Given the description of an element on the screen output the (x, y) to click on. 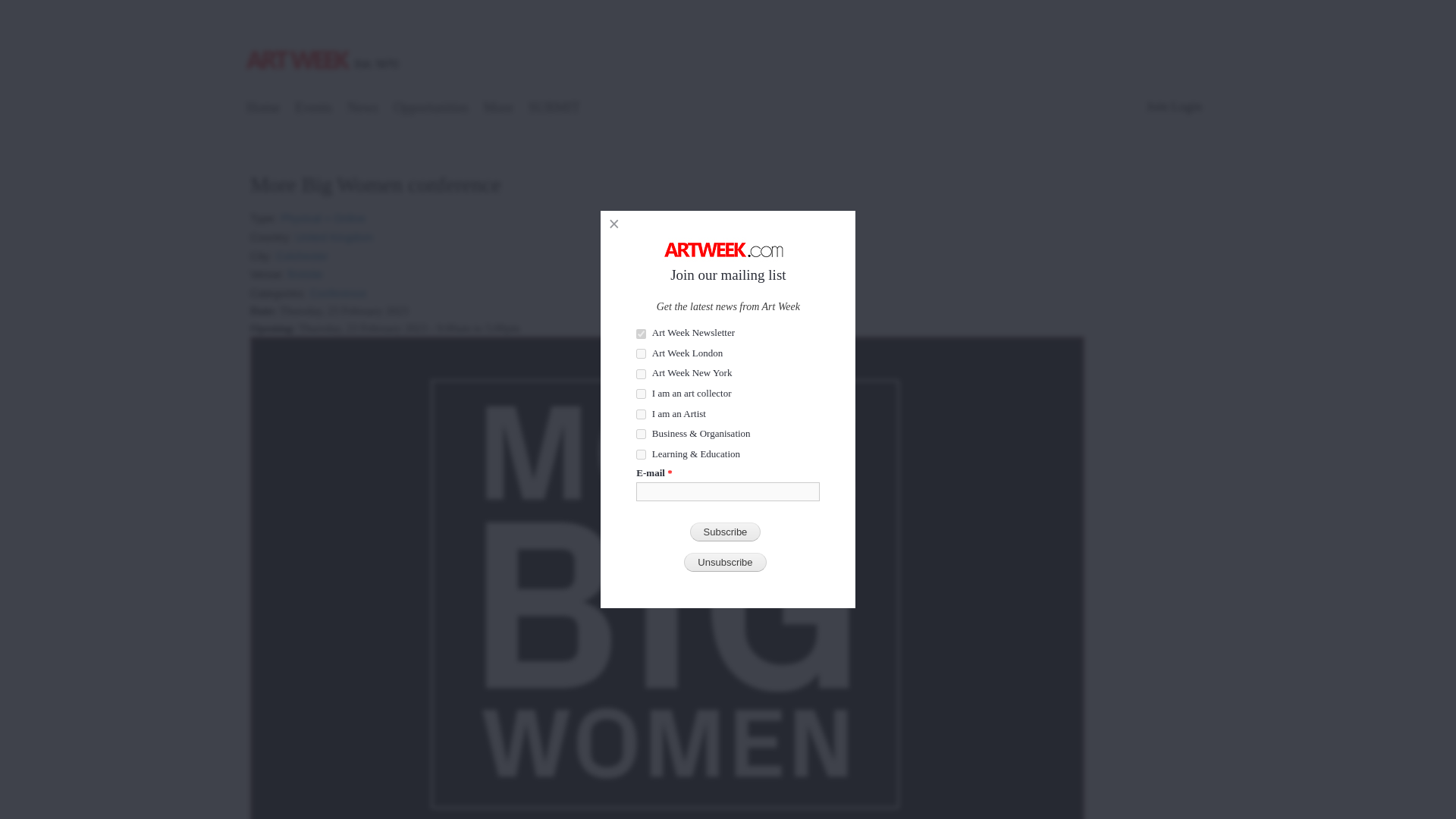
Events (313, 109)
Conference (338, 288)
17672 (641, 393)
Join (1157, 106)
News (362, 109)
Home (263, 109)
Skip to main content (695, 1)
firstsite (305, 269)
Art news (362, 109)
6189 (641, 433)
Login (1186, 106)
30824 (641, 374)
729 (641, 334)
17787 (641, 414)
Home (325, 43)
